Given the description of an element on the screen output the (x, y) to click on. 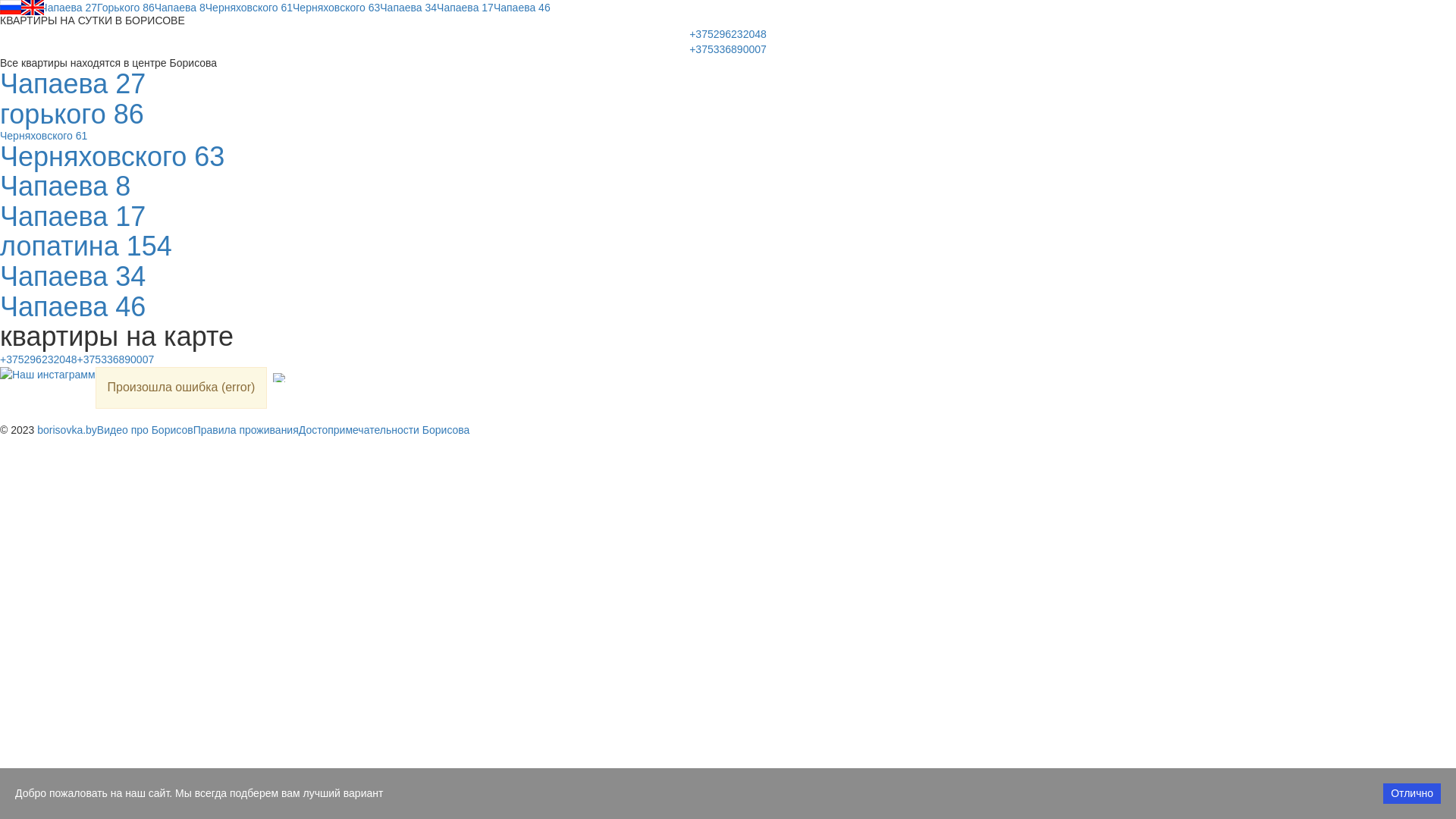
+375336890007 Element type: text (115, 359)
+375296232048 Element type: text (38, 359)
borisovka.by Element type: text (67, 429)
